Given the description of an element on the screen output the (x, y) to click on. 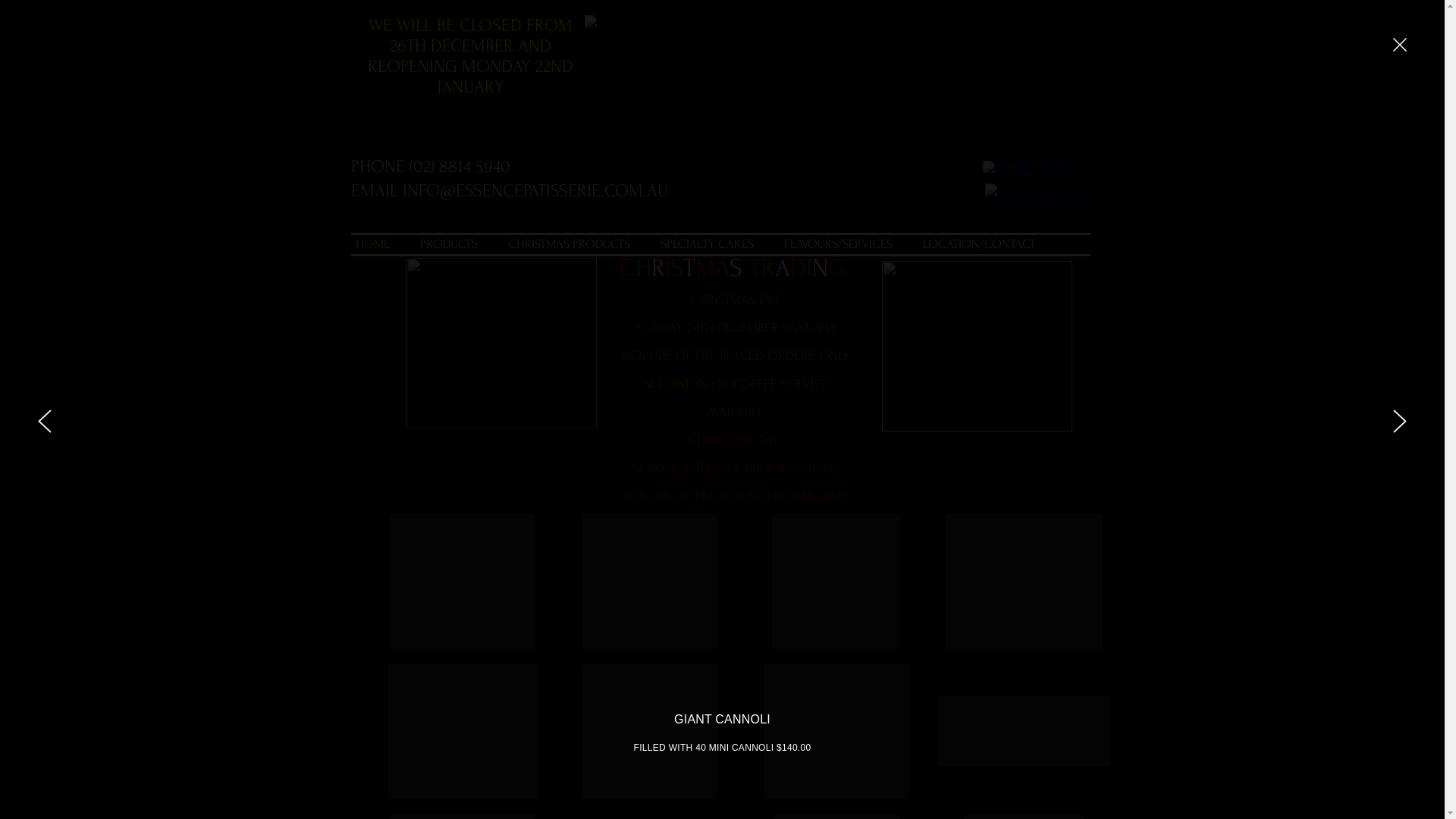
LOCATION/CONTACT Element type: text (979, 243)
HOME Element type: text (372, 243)
SPECIALTY CAKES Element type: text (706, 243)
CHRISTMAS PRODUCTS Element type: text (568, 243)
PRODUCTS Element type: text (448, 243)
FLAVOURS/SERVICES Element type: text (837, 243)
INFO@ESSENCEPATISSERIE.COM.AU Element type: text (534, 190)
